Given the description of an element on the screen output the (x, y) to click on. 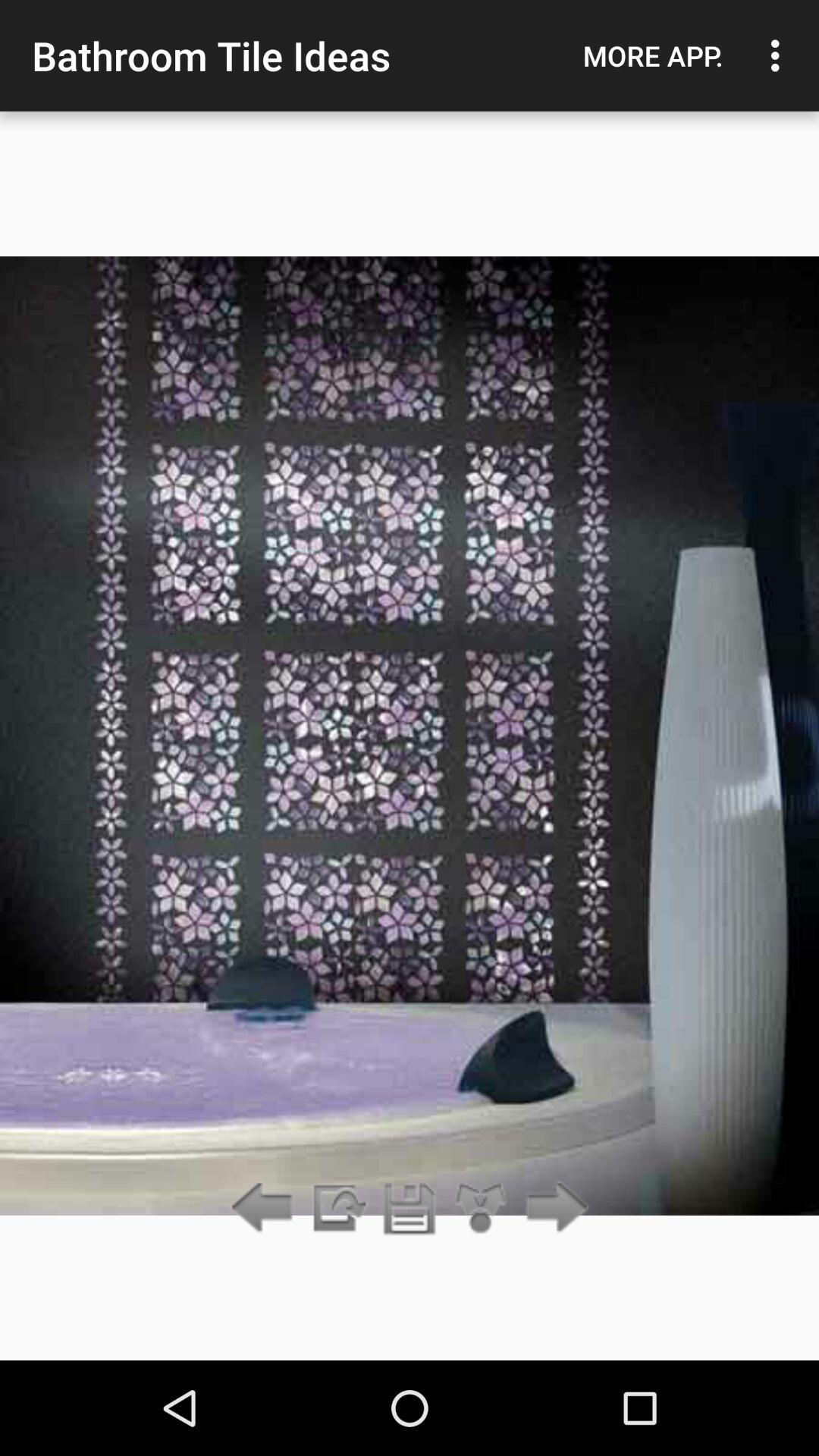
launch item to the right of the more app. item (779, 55)
